Given the description of an element on the screen output the (x, y) to click on. 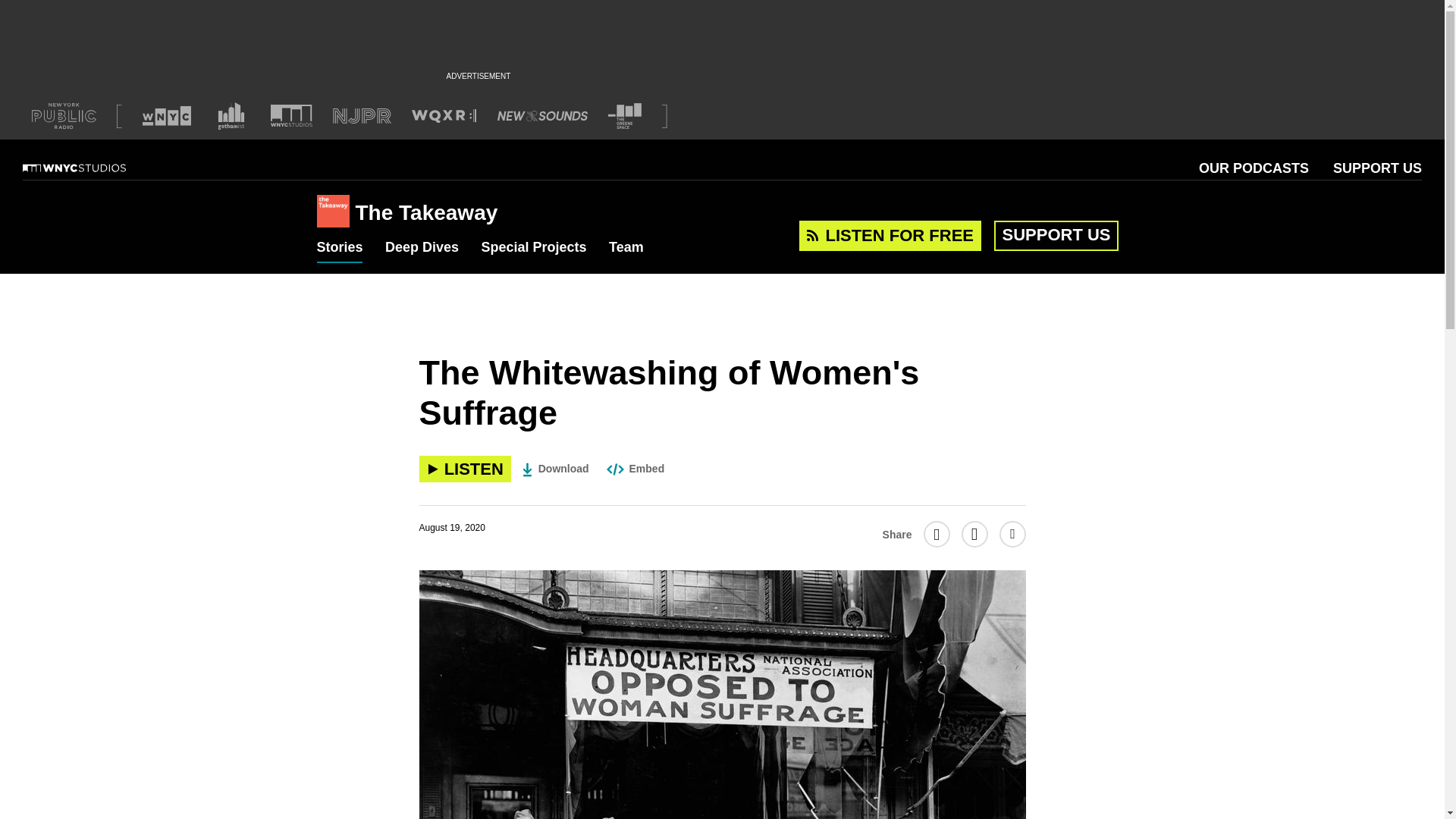
Listen to The Whitewashing of Women's Suffrage  (465, 468)
Deep Dives (421, 248)
SUPPORT US (1377, 168)
The Takeaway (426, 212)
Special Projects (533, 248)
3rd party ad content (721, 33)
OUR PODCASTS (1253, 168)
Download "The Whitewashing of Women's Suffrage " (555, 468)
The Takeaway (336, 212)
Team (625, 248)
LISTEN FOR FREE (890, 235)
SUPPORT US (1055, 234)
WNYC Studios (93, 168)
Stories (339, 248)
